Given the description of an element on the screen output the (x, y) to click on. 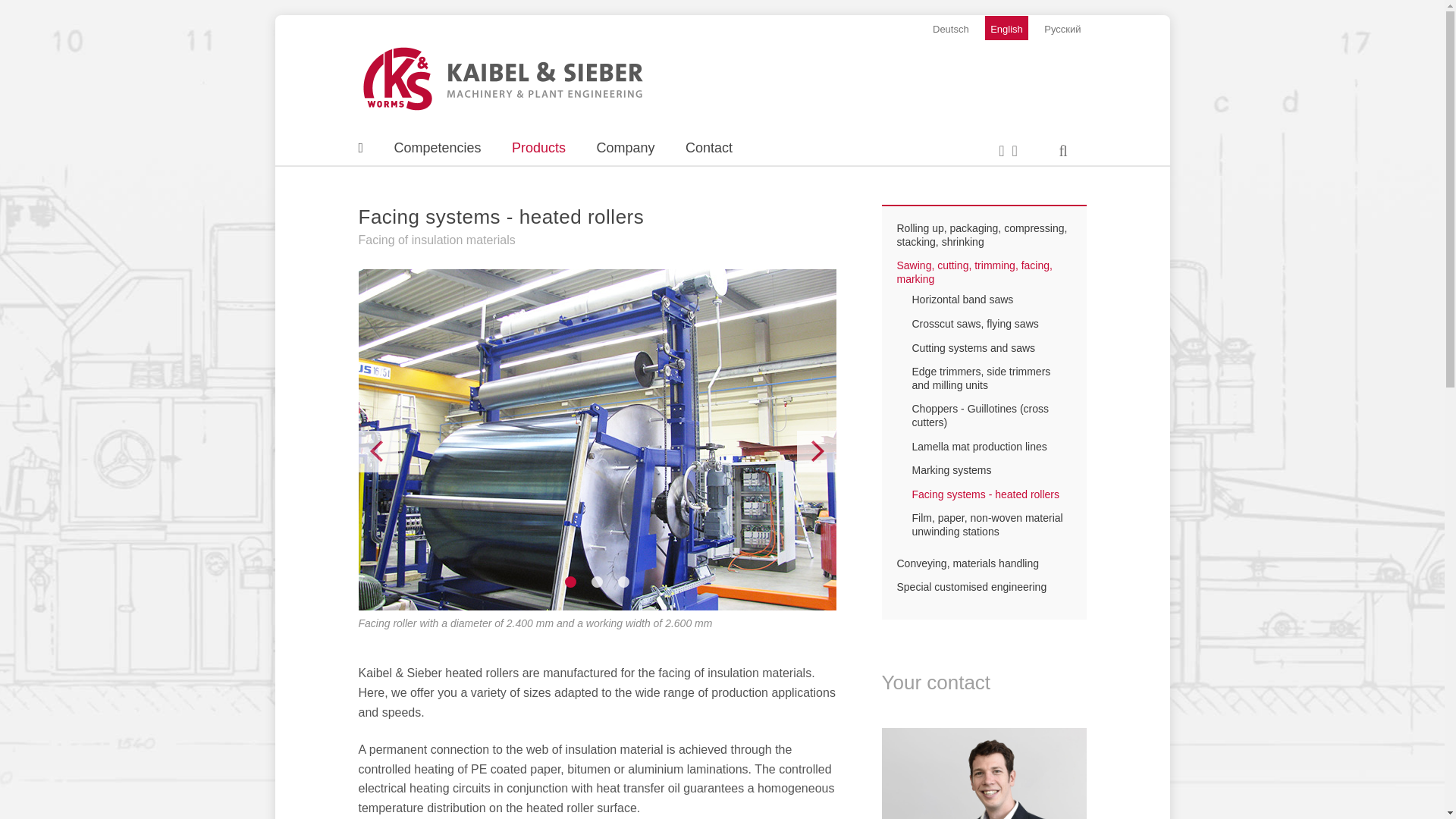
Products (538, 147)
English (1006, 27)
Competencies (437, 147)
Company (625, 147)
Products (538, 147)
Deutsch (950, 27)
Competencies (437, 147)
